Given the description of an element on the screen output the (x, y) to click on. 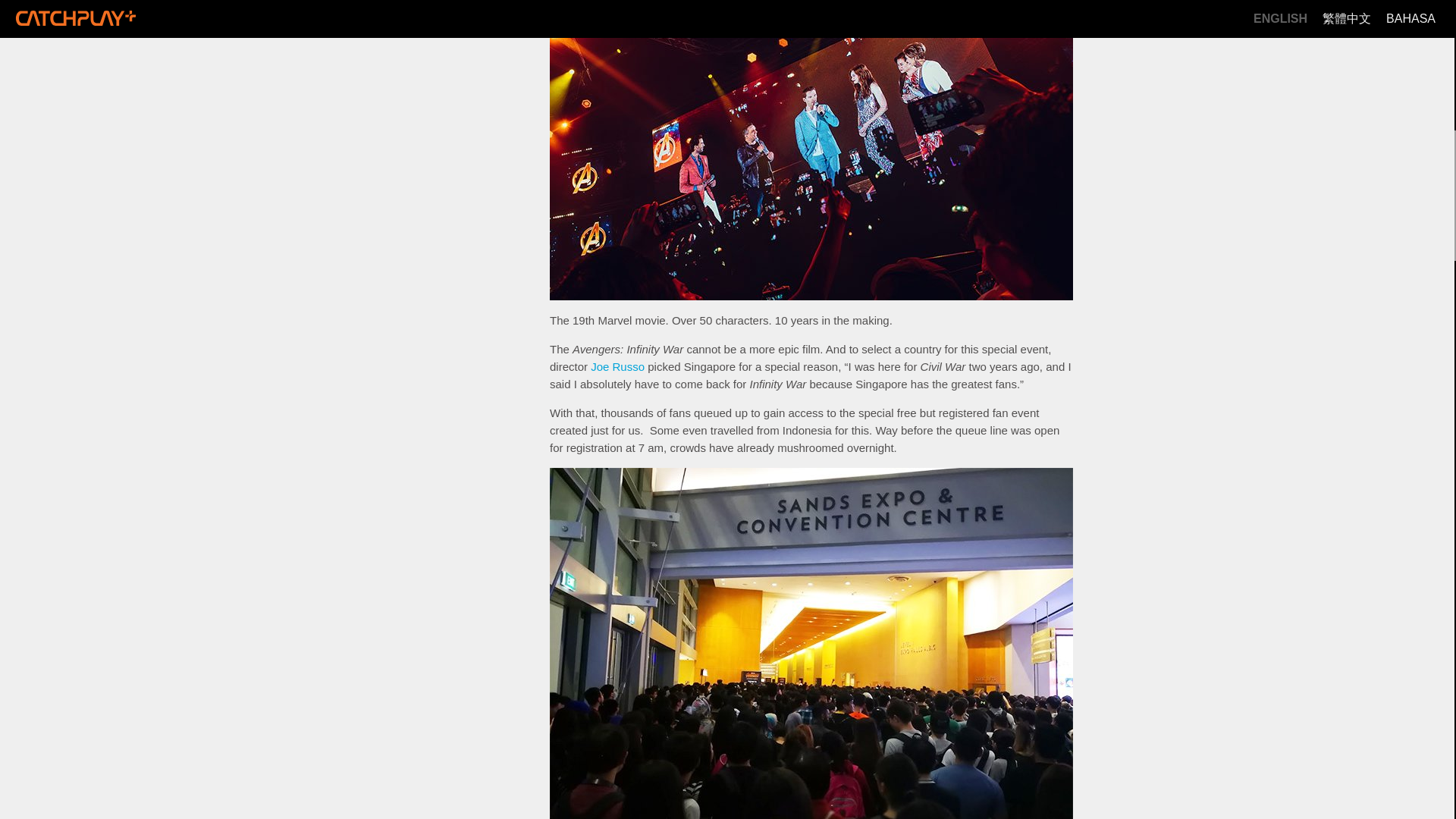
Joe Russo (618, 366)
